Given the description of an element on the screen output the (x, y) to click on. 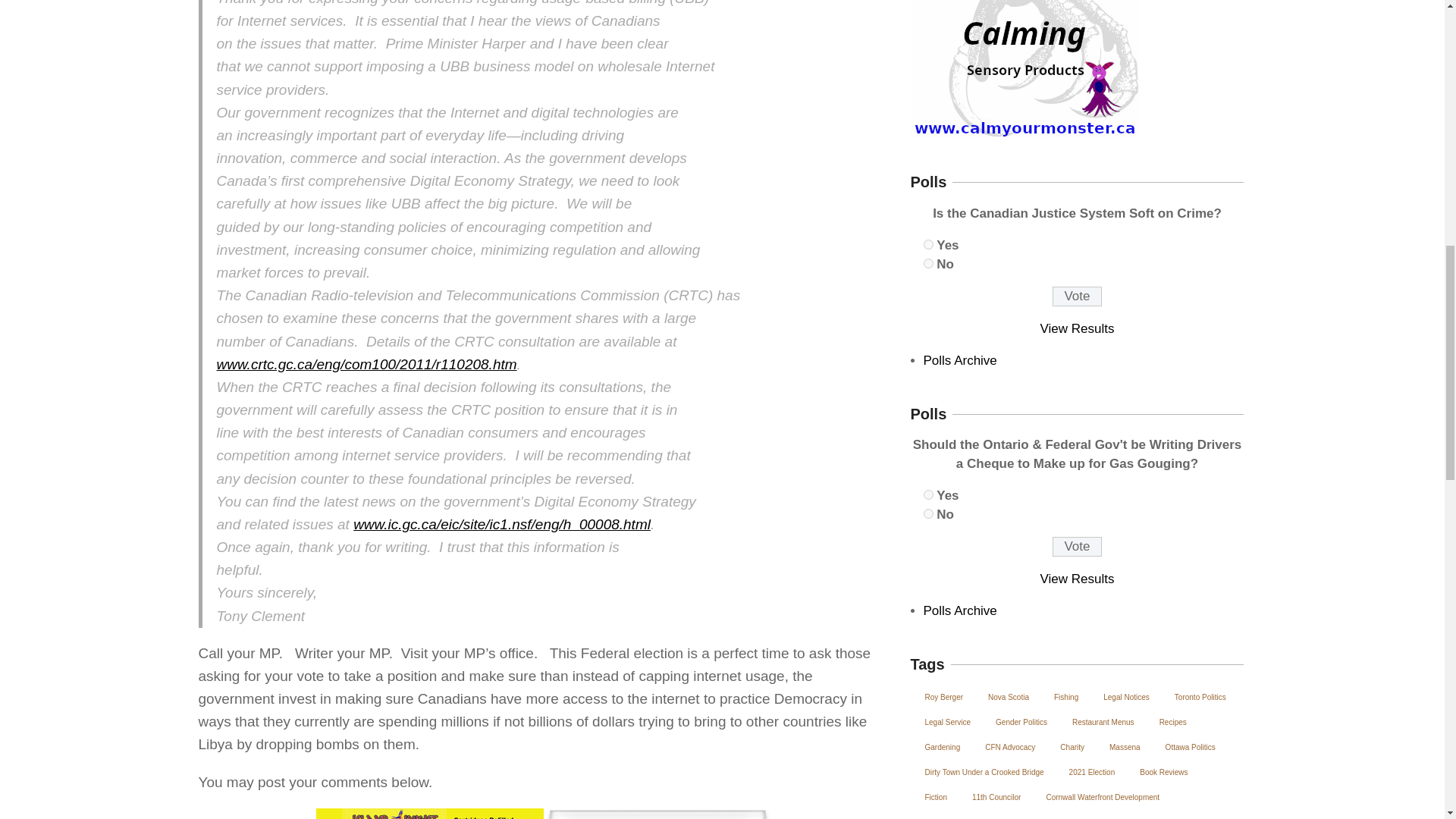
1763 (928, 513)
View Results Of This Poll (1078, 328)
   Vote    (1076, 546)
   Vote    (1076, 296)
1755 (928, 263)
View Results Of This Poll (1078, 578)
1754 (928, 244)
1762 (928, 494)
